Given the description of an element on the screen output the (x, y) to click on. 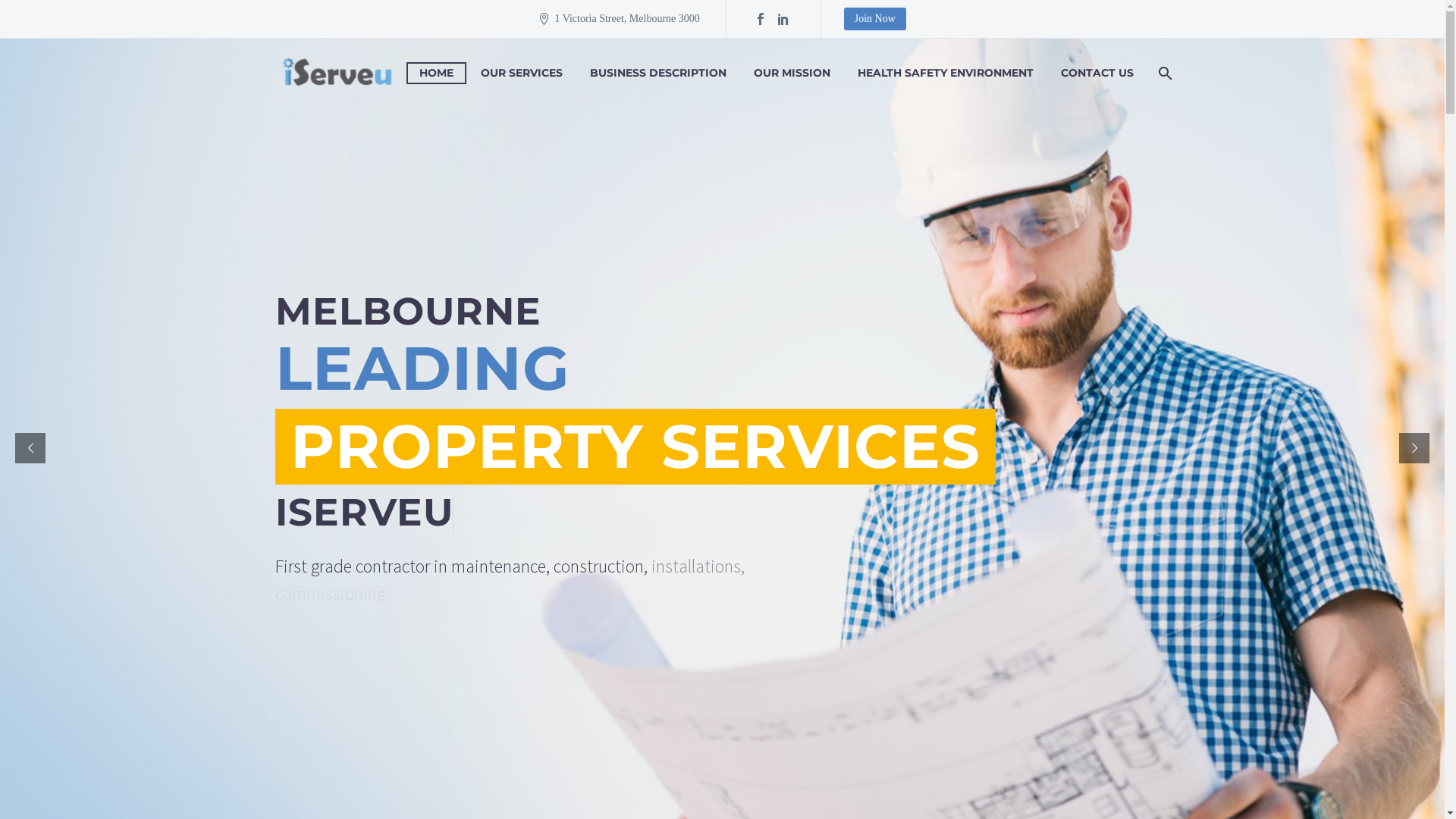
HEALTH SAFETY ENVIRONMENT Element type: text (945, 72)
OUR MISSION Element type: text (790, 72)
linkedin Element type: hover (782, 18)
HOME Element type: text (436, 73)
Join Now Element type: text (875, 18)
OUR SERVICES Element type: text (520, 72)
BUSINESS DESCRIPTION Element type: text (657, 72)
CONTACT US Element type: text (1097, 72)
facebook Element type: hover (760, 18)
